Given the description of an element on the screen output the (x, y) to click on. 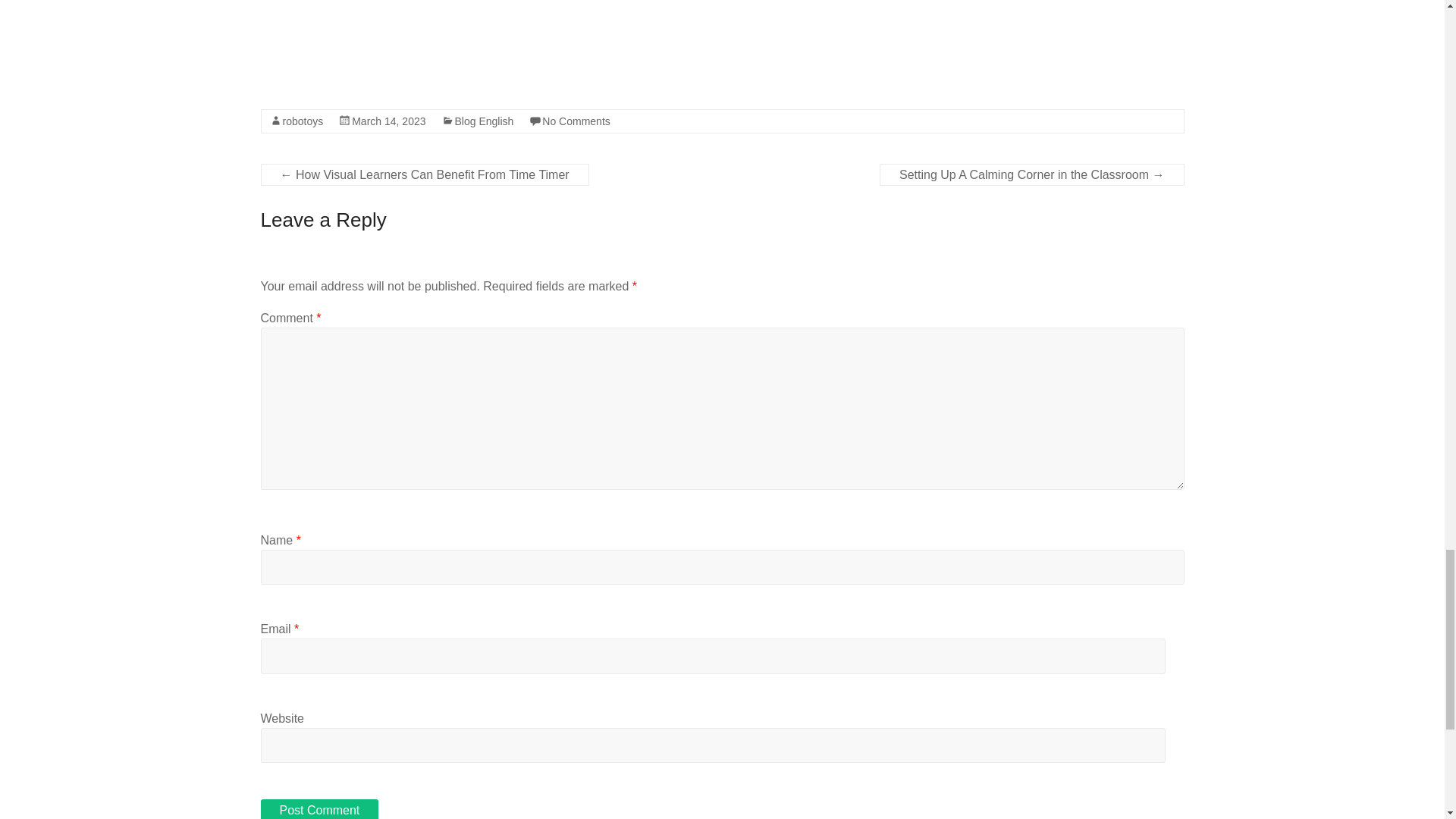
Post Comment (319, 809)
No Comments (575, 121)
9:29 am (388, 121)
robotoys (302, 121)
March 14, 2023 (388, 121)
Blog English (483, 121)
